Given the description of an element on the screen output the (x, y) to click on. 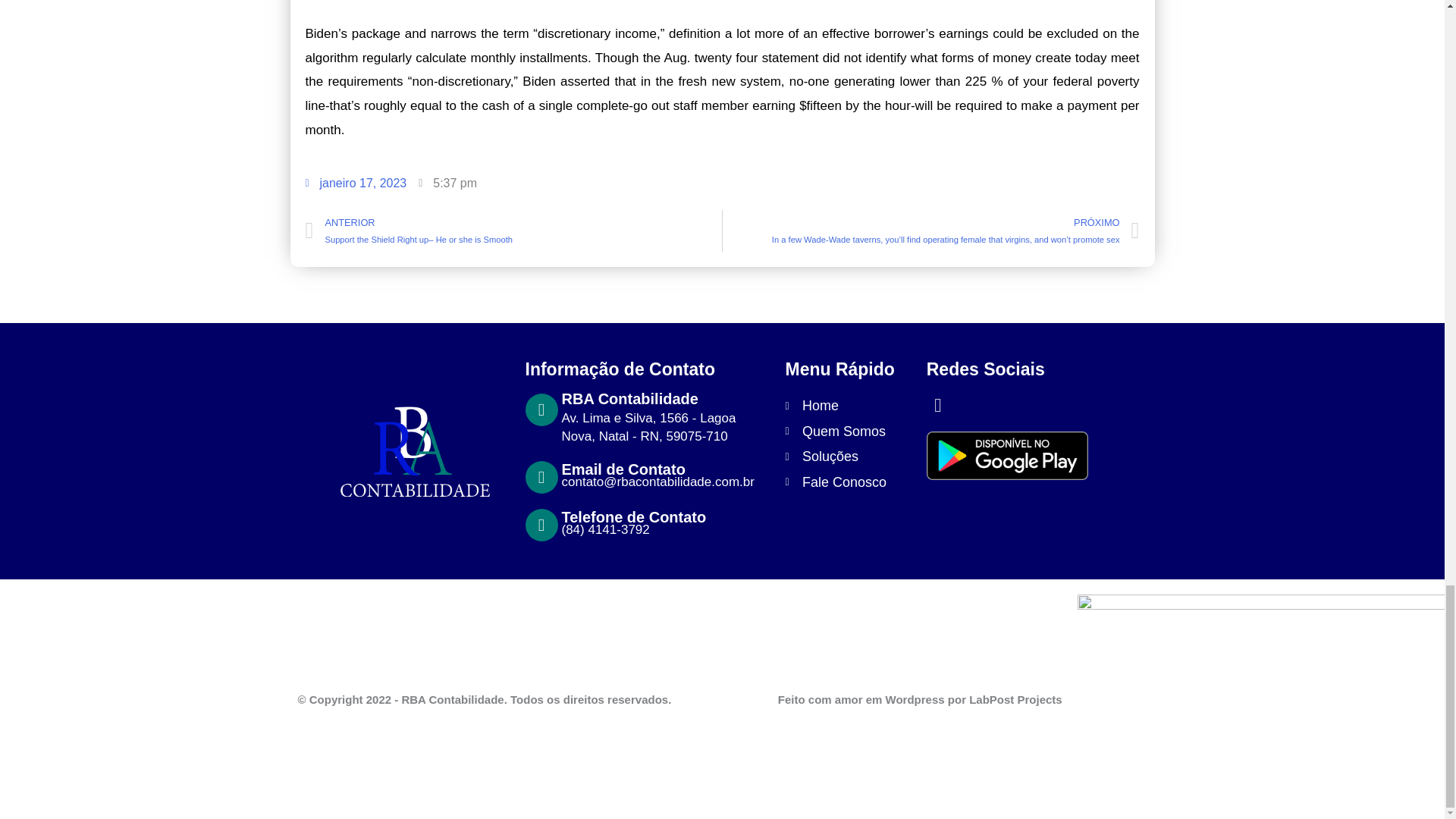
Home (847, 405)
Quem Somos (847, 431)
Email de Contato (622, 469)
Fale Conosco (847, 482)
janeiro 17, 2023 (355, 182)
